Given the description of an element on the screen output the (x, y) to click on. 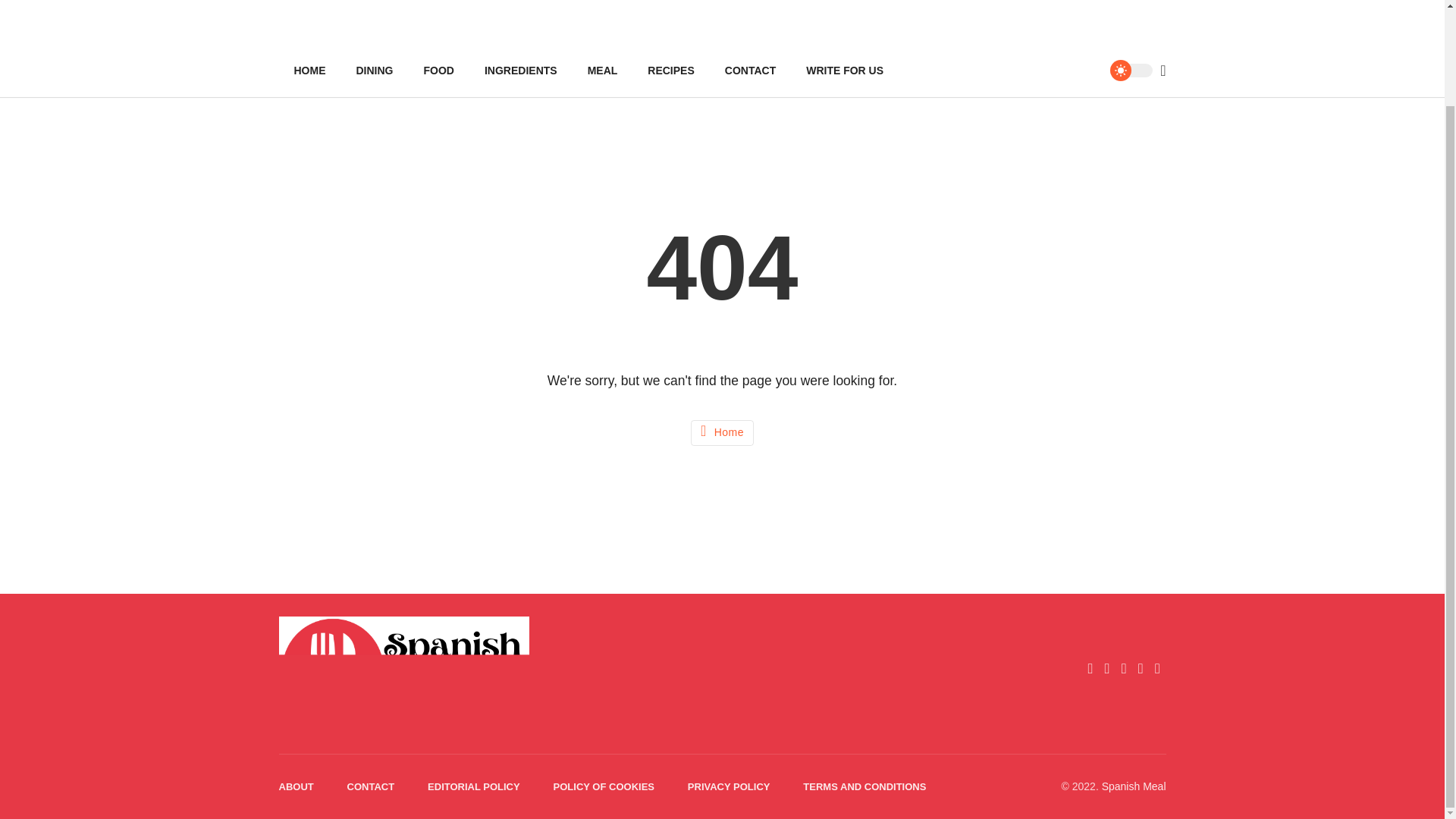
HOME (309, 70)
WRITE FOR US (844, 70)
INGREDIENTS (520, 70)
DINING (374, 70)
FOOD (437, 70)
RECIPES (670, 70)
MEAL (602, 70)
CONTACT (750, 70)
PRIVACY POLICY (728, 786)
Home (722, 432)
ABOUT (296, 786)
TERMS AND CONDITIONS (864, 786)
POLICY OF COOKIES (603, 786)
Spanish Meal (1134, 786)
CONTACT (370, 786)
